Given the description of an element on the screen output the (x, y) to click on. 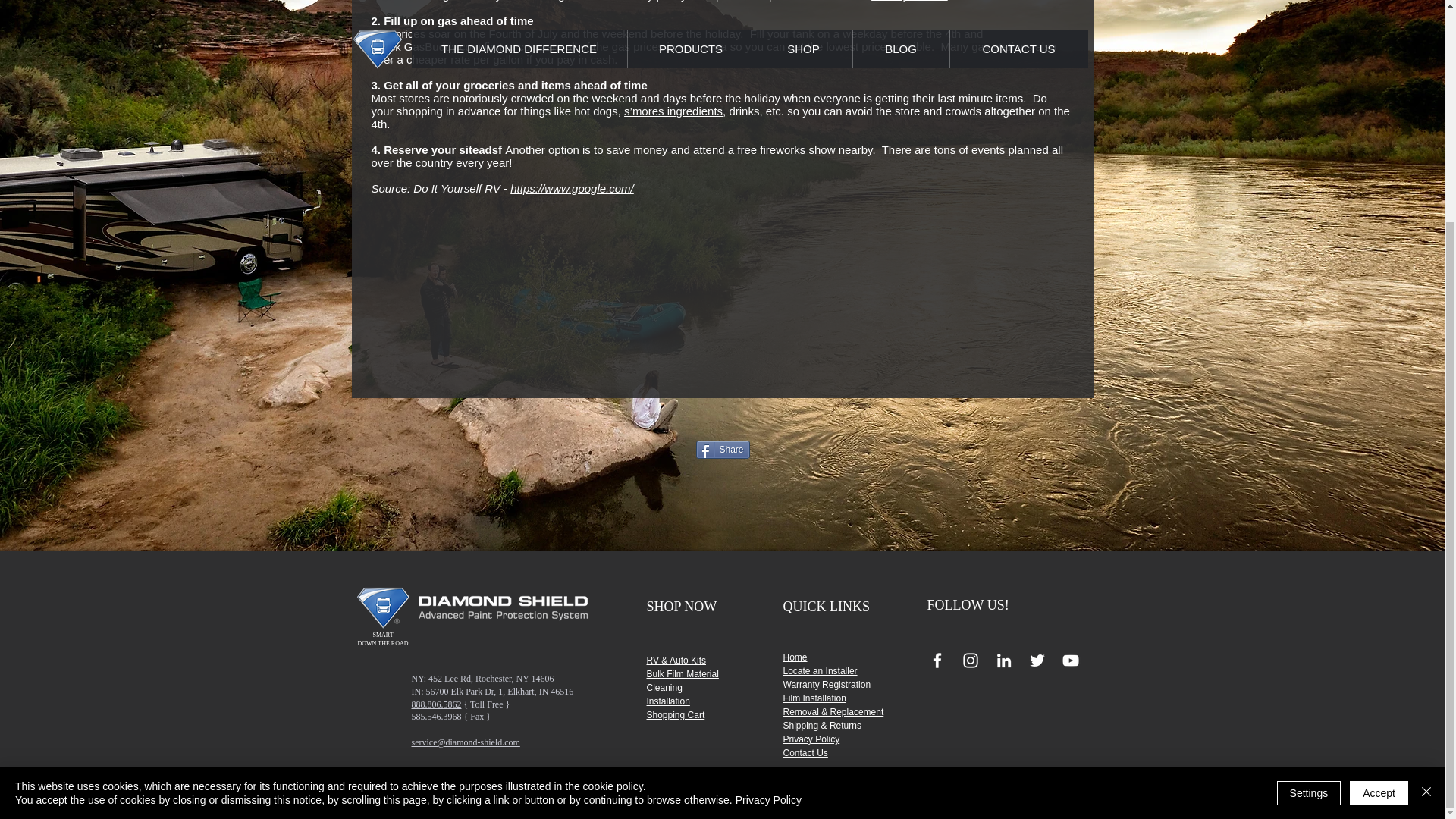
0 (1418, 495)
Share (722, 449)
GasBuddy.com (442, 46)
QUICK LINKS (826, 606)
DOWN THE ROAD (383, 643)
Share (722, 449)
SHOP NOW (681, 606)
Wix Chat (87, 499)
SMART (382, 634)
888.806.5862 (435, 704)
RV Trip Wizard (908, 0)
0 (1418, 495)
